Given the description of an element on the screen output the (x, y) to click on. 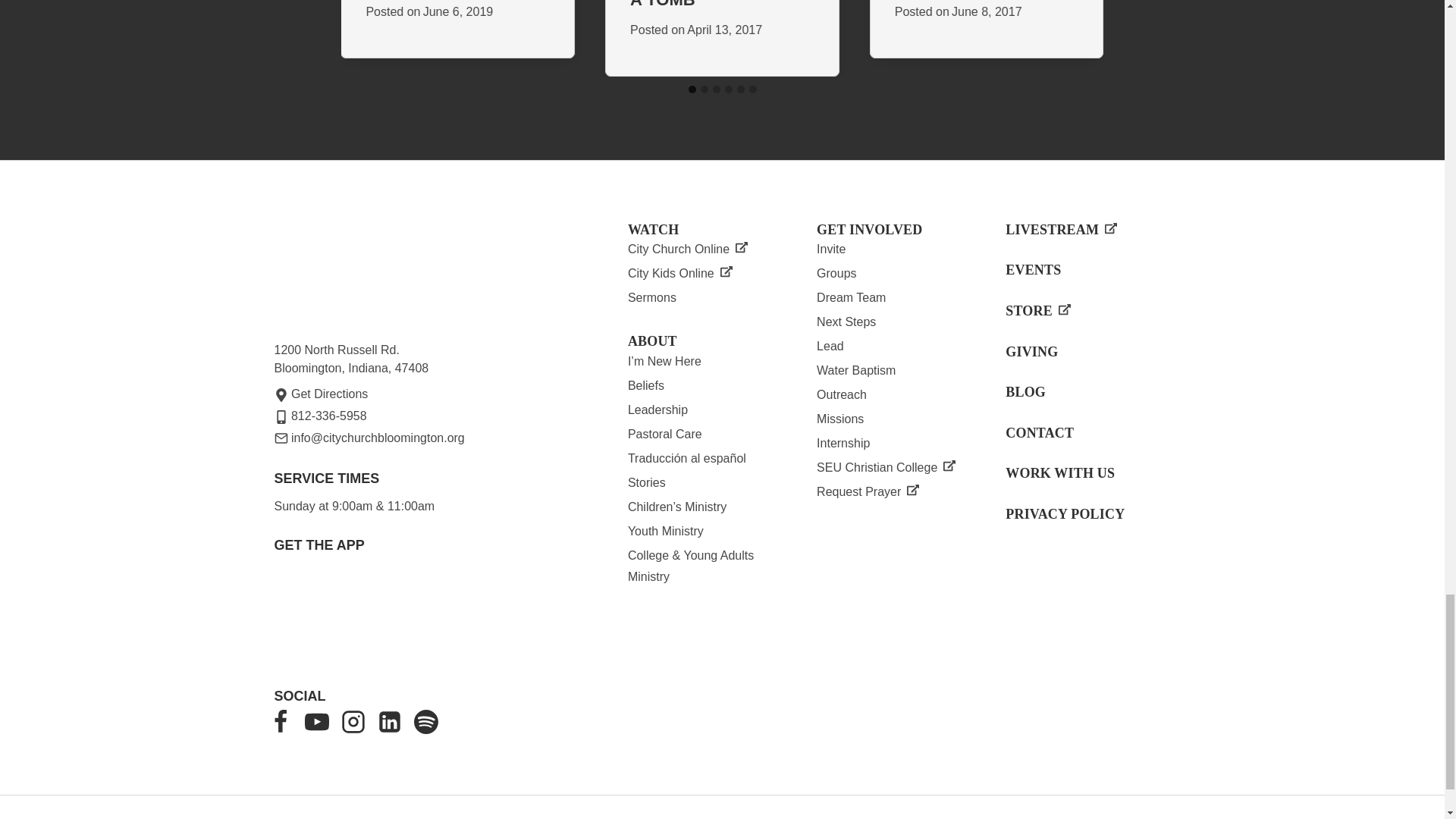
Get Directions to City Church (321, 393)
Download on the App Store (422, 609)
Download on the App Store (320, 615)
